Given the description of an element on the screen output the (x, y) to click on. 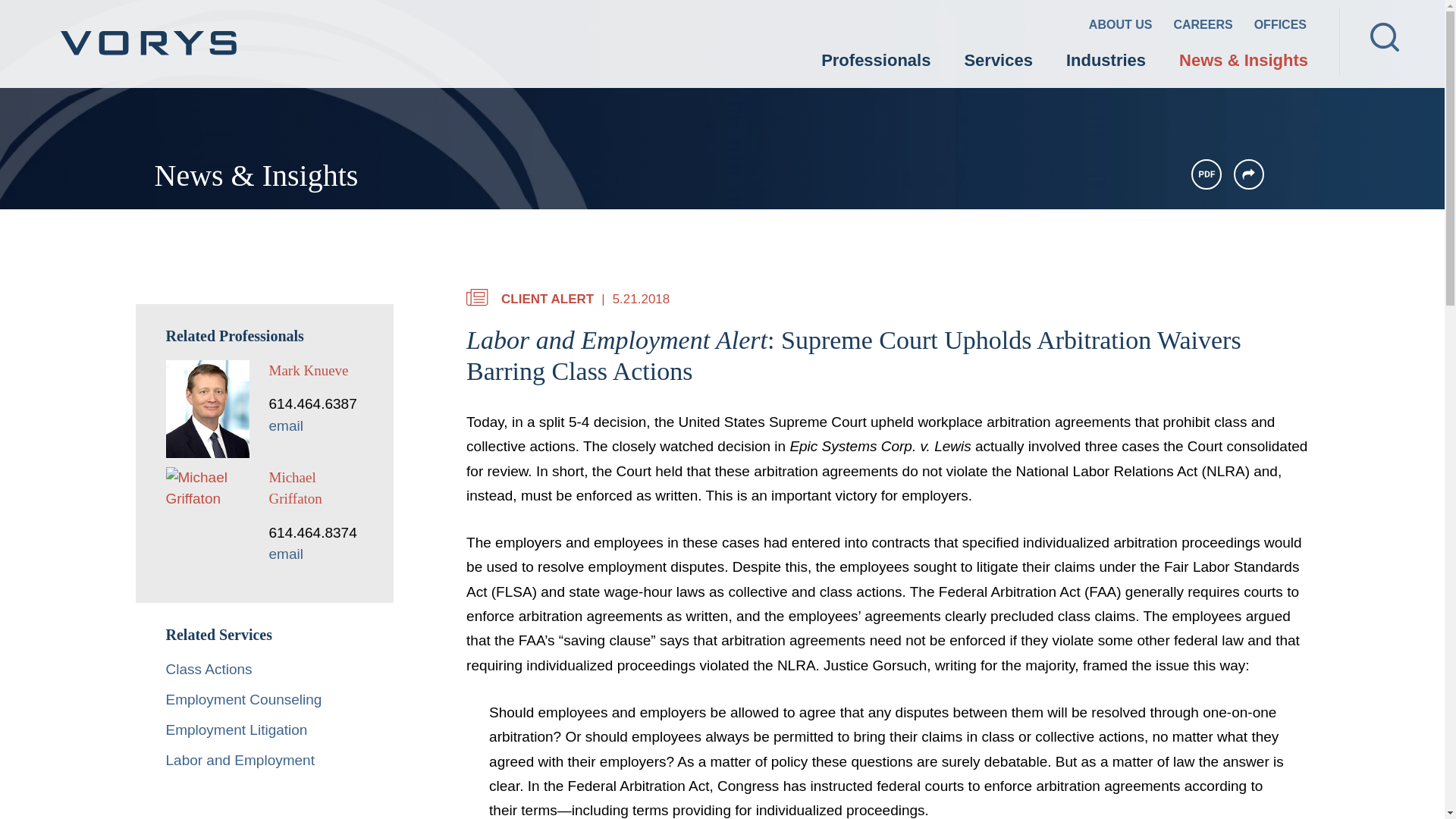
Search (1384, 36)
Main Menu (674, 20)
Services (998, 62)
Main Content (667, 20)
Share (1248, 173)
ABOUT US (1120, 26)
Menu (674, 20)
CAREERS (1202, 26)
Professionals (876, 62)
OFFICES (1280, 26)
